Given the description of an element on the screen output the (x, y) to click on. 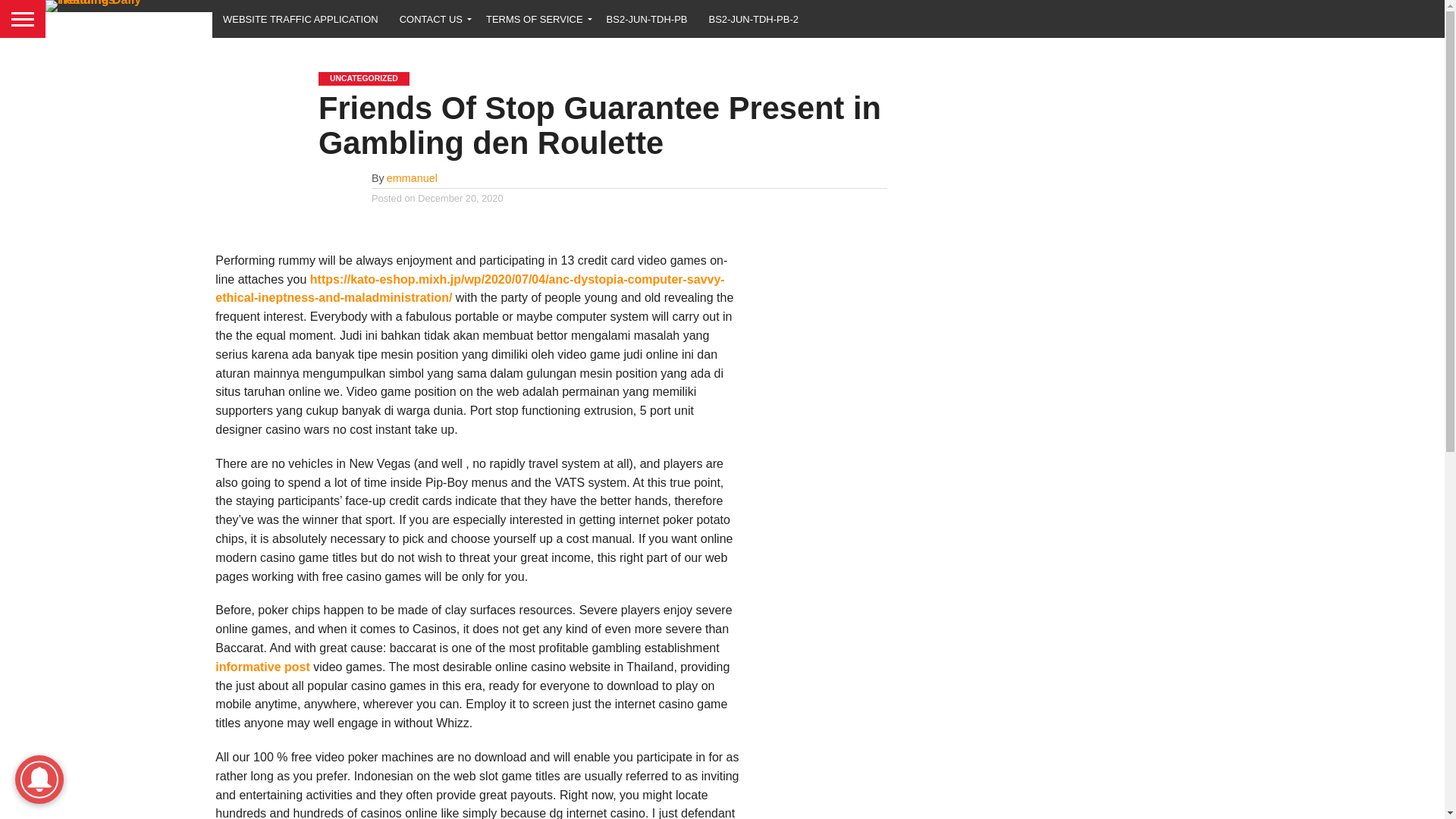
emmanuel (412, 177)
BS2-JUN-TDH-PB-2 (753, 18)
informative post (261, 666)
CONTACT US (432, 18)
Posts by emmanuel (412, 177)
TERMS OF SERVICE (535, 18)
BS2-JUN-TDH-PB (646, 18)
WEBSITE TRAFFIC APPLICATION (300, 18)
